Given the description of an element on the screen output the (x, y) to click on. 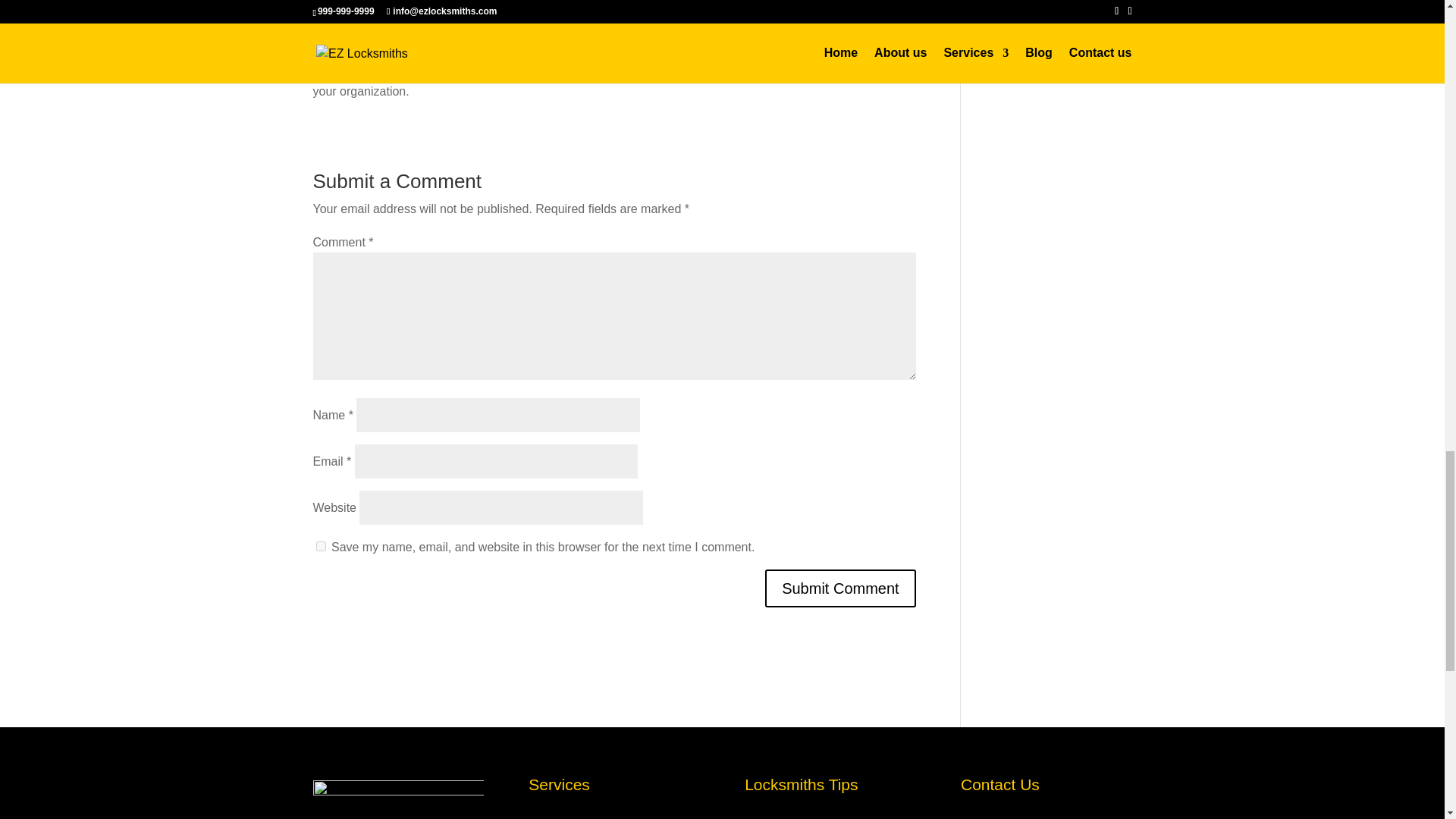
Submit Comment (840, 588)
Submit Comment (840, 588)
yes (319, 546)
